Given the description of an element on the screen output the (x, y) to click on. 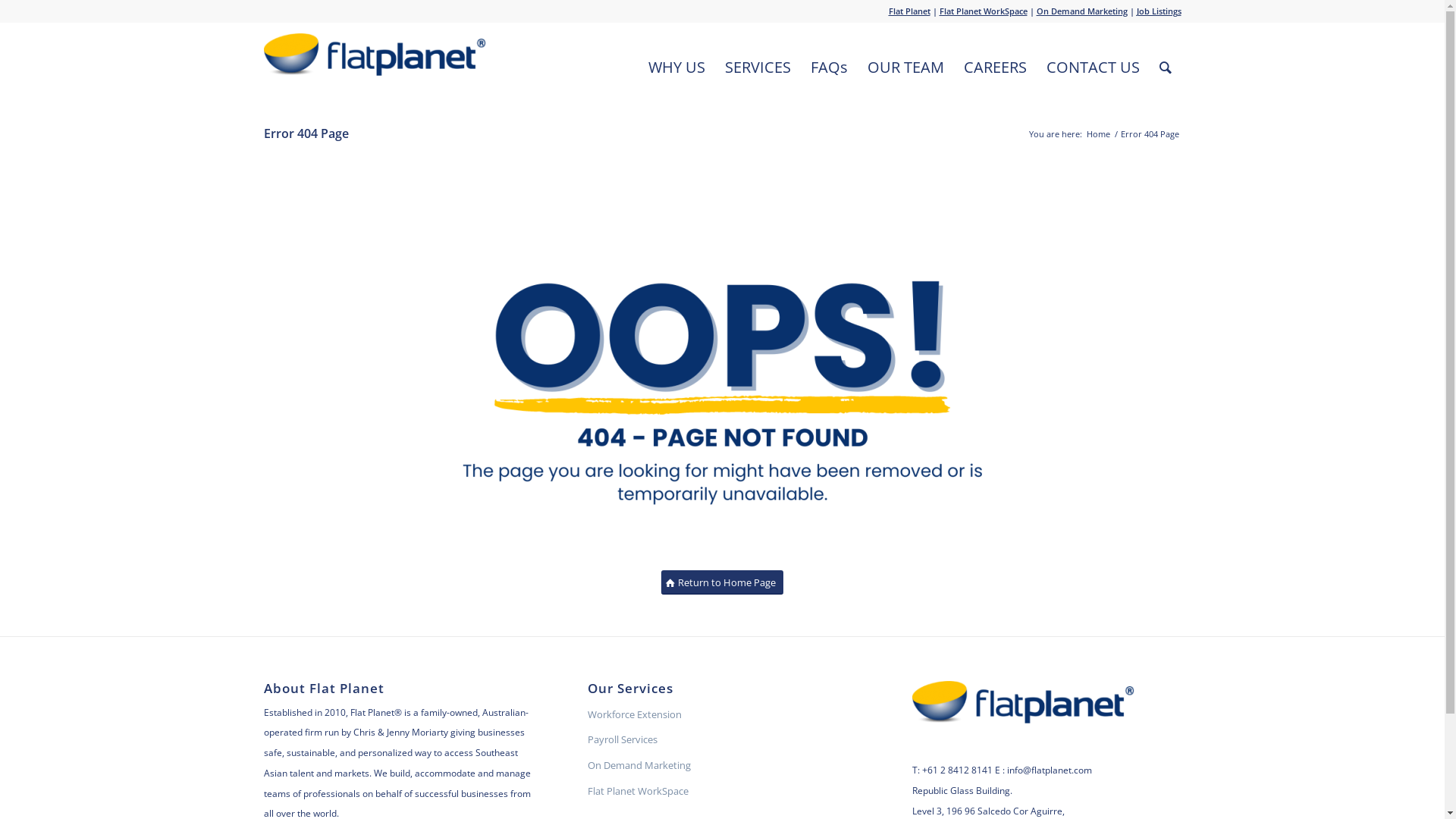
Workforce Extension Element type: text (721, 715)
404 (4) Element type: hover (722, 377)
FAQs Element type: text (828, 67)
Job Listings Element type: text (1157, 10)
Return to Home Page Element type: text (722, 582)
SERVICES Element type: text (757, 67)
CONTACT US Element type: text (1091, 67)
Flat Planet WorkSpace Element type: text (721, 791)
Payroll Services Element type: text (721, 740)
Flat Planet WorkSpace Element type: text (982, 10)
On Demand Marketing Element type: text (721, 765)
OUR TEAM Element type: text (904, 67)
On Demand Marketing Element type: text (1080, 10)
CAREERS Element type: text (994, 67)
Error 404 Page Element type: text (305, 133)
Flat Planet Element type: text (909, 10)
WHY US Element type: text (676, 67)
Home Element type: text (1098, 133)
